Given the description of an element on the screen output the (x, y) to click on. 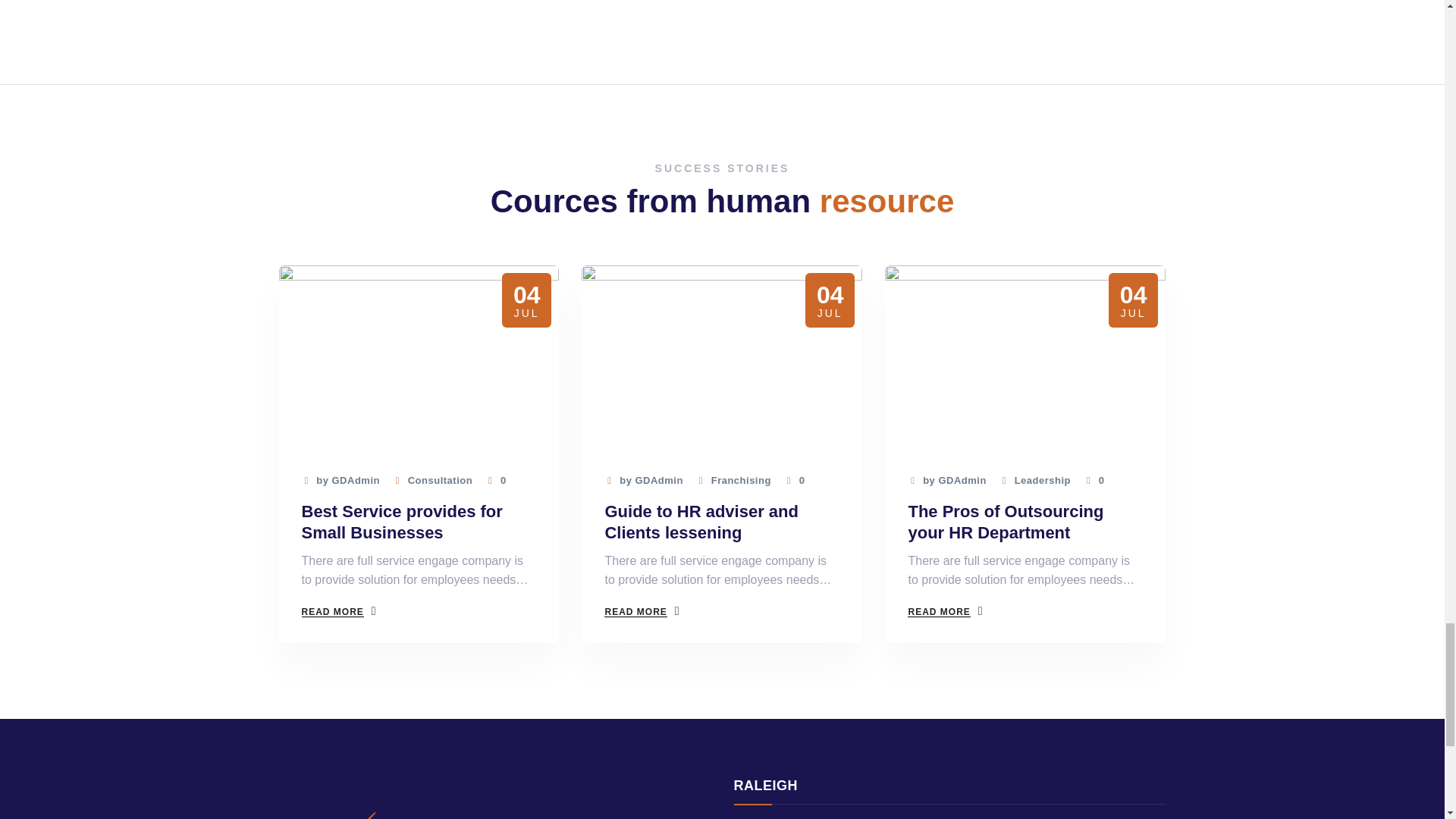
Posted by GDAdmin (643, 480)
Posted by GDAdmin (946, 480)
Posted by GDAdmin (340, 480)
